Given the description of an element on the screen output the (x, y) to click on. 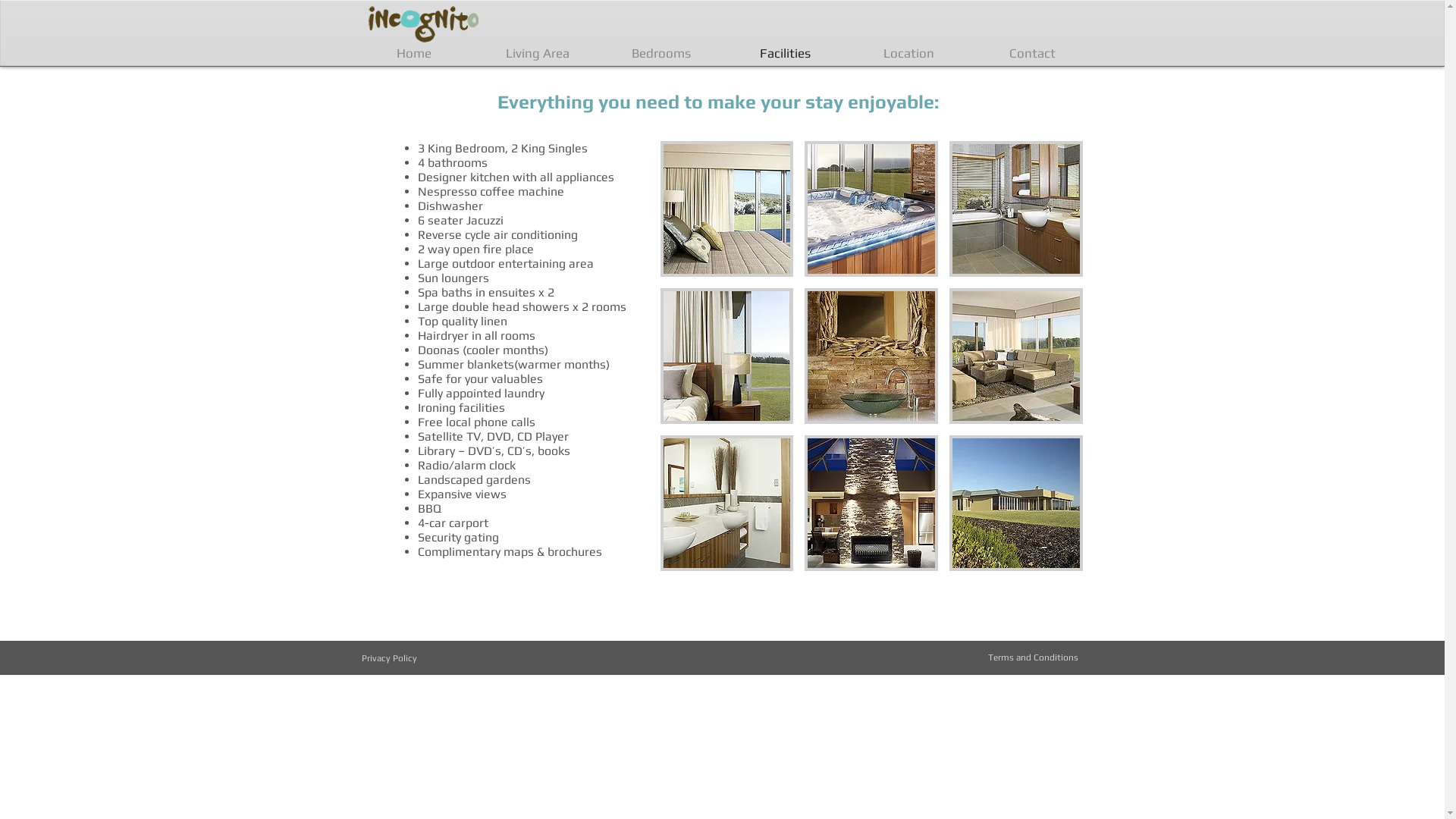
Terms and Conditions Element type: text (1032, 657)
Bedrooms Element type: text (660, 52)
Privacy Policy Element type: text (388, 657)
logo.png Element type: hover (423, 28)
Home Element type: text (413, 52)
Living Area Element type: text (537, 52)
Location Element type: text (907, 52)
Contact Element type: text (1032, 52)
Facilities Element type: text (785, 52)
